Given the description of an element on the screen output the (x, y) to click on. 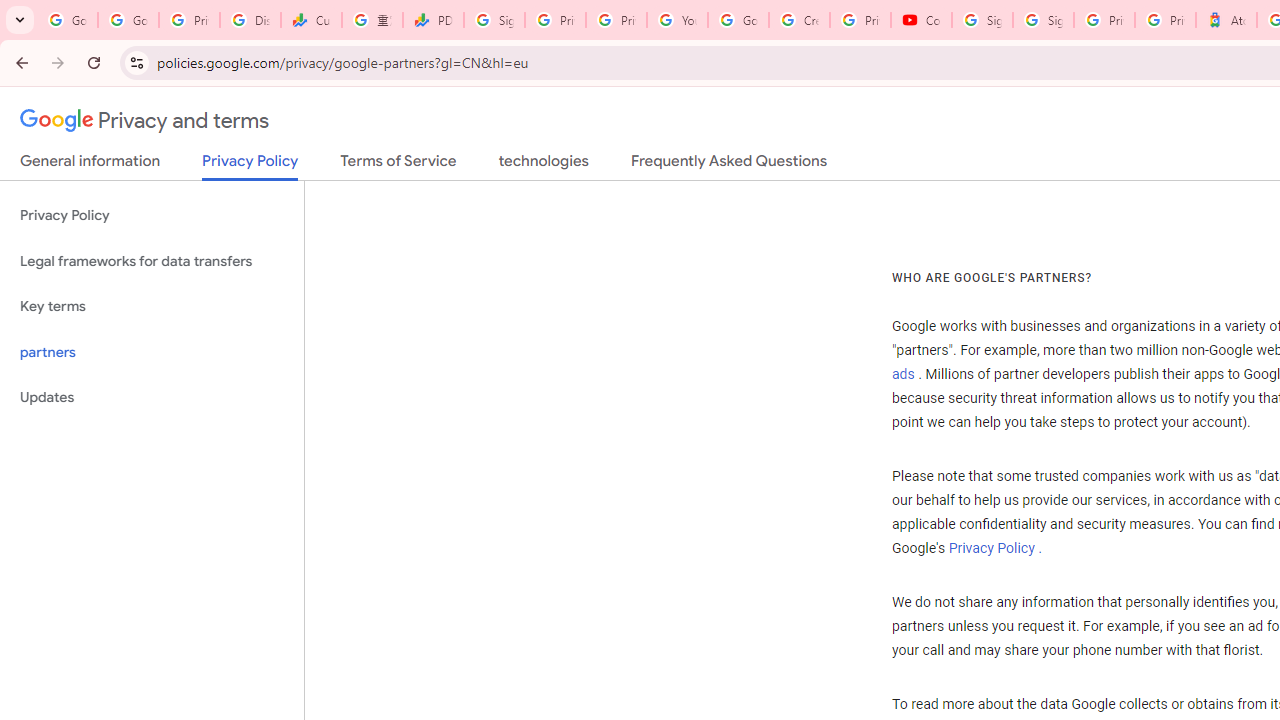
Privacy Checkup (616, 20)
Google Account Help (738, 20)
YouTube (676, 20)
Sign in - Google Accounts (1042, 20)
Currencies - Google Finance (310, 20)
Sign in - Google Accounts (493, 20)
